Given the description of an element on the screen output the (x, y) to click on. 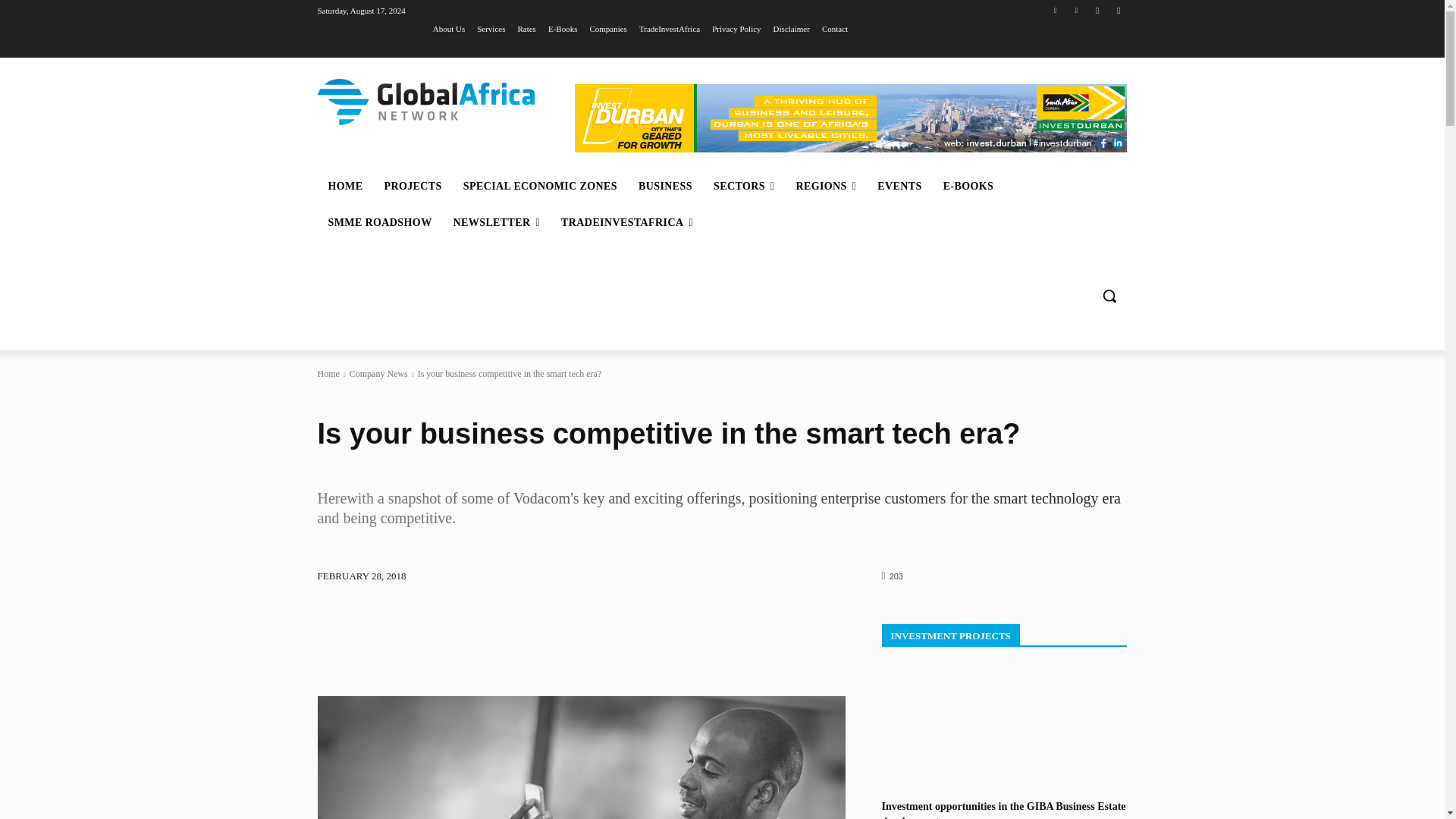
Facebook (1097, 9)
Linkedin (1075, 9)
Twitter (1055, 9)
Youtube (1117, 9)
View all posts in Company News (378, 373)
